Given the description of an element on the screen output the (x, y) to click on. 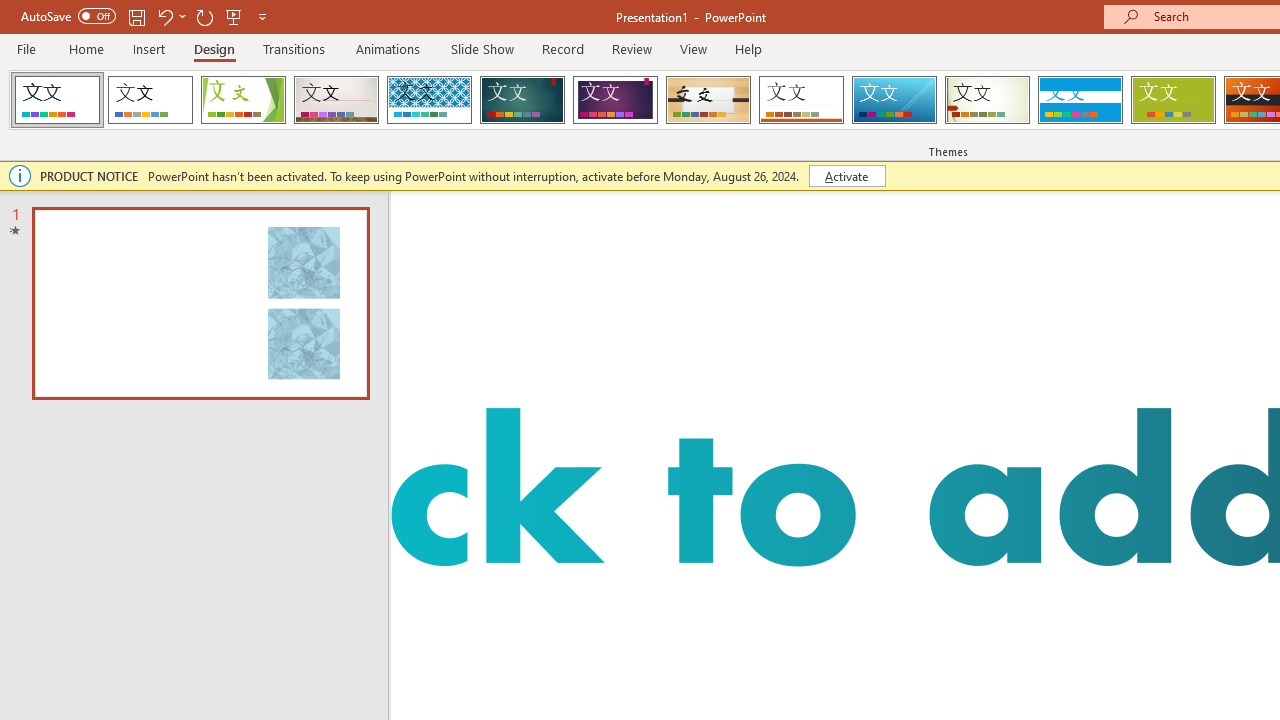
Banded (1080, 100)
Activate (846, 175)
Ion Boardroom (615, 100)
Office Theme (150, 100)
Basis (1172, 100)
Retrospect (801, 100)
